Given the description of an element on the screen output the (x, y) to click on. 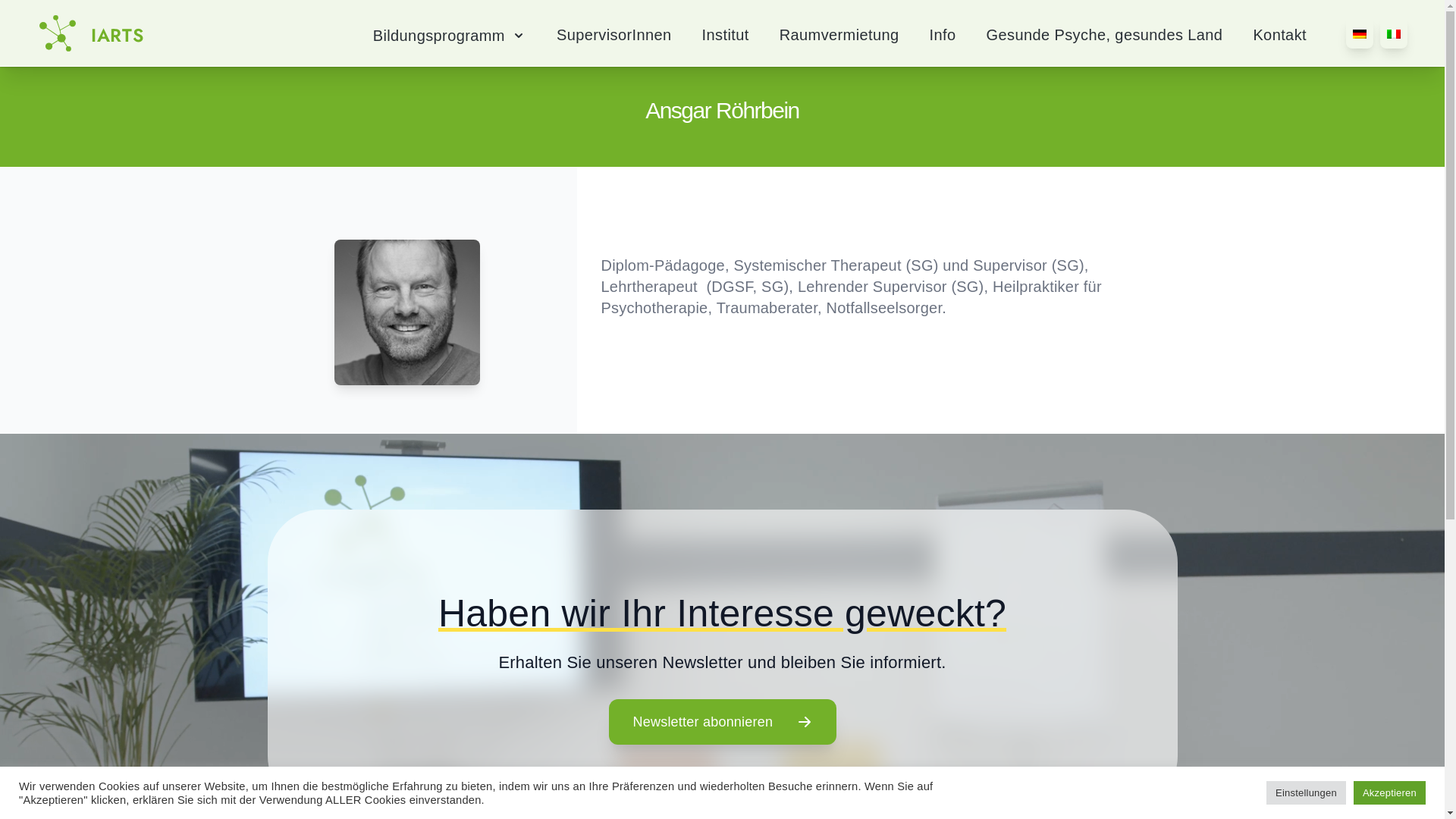
Bildungsprogramm Element type: text (449, 35)
Akzeptieren Element type: text (1389, 792)
Raumvermietung Element type: text (839, 37)
SupervisorInnen Element type: text (614, 37)
Institut Element type: text (725, 37)
Gesunde Psyche, gesundes Land Element type: text (1104, 37)
Kontakt Element type: text (1279, 37)
Einstellungen Element type: text (1306, 792)
Newsletter abonnieren Element type: text (721, 721)
IARTS
IARTS Element type: text (84, 33)
Info Element type: text (942, 37)
